Given the description of an element on the screen output the (x, y) to click on. 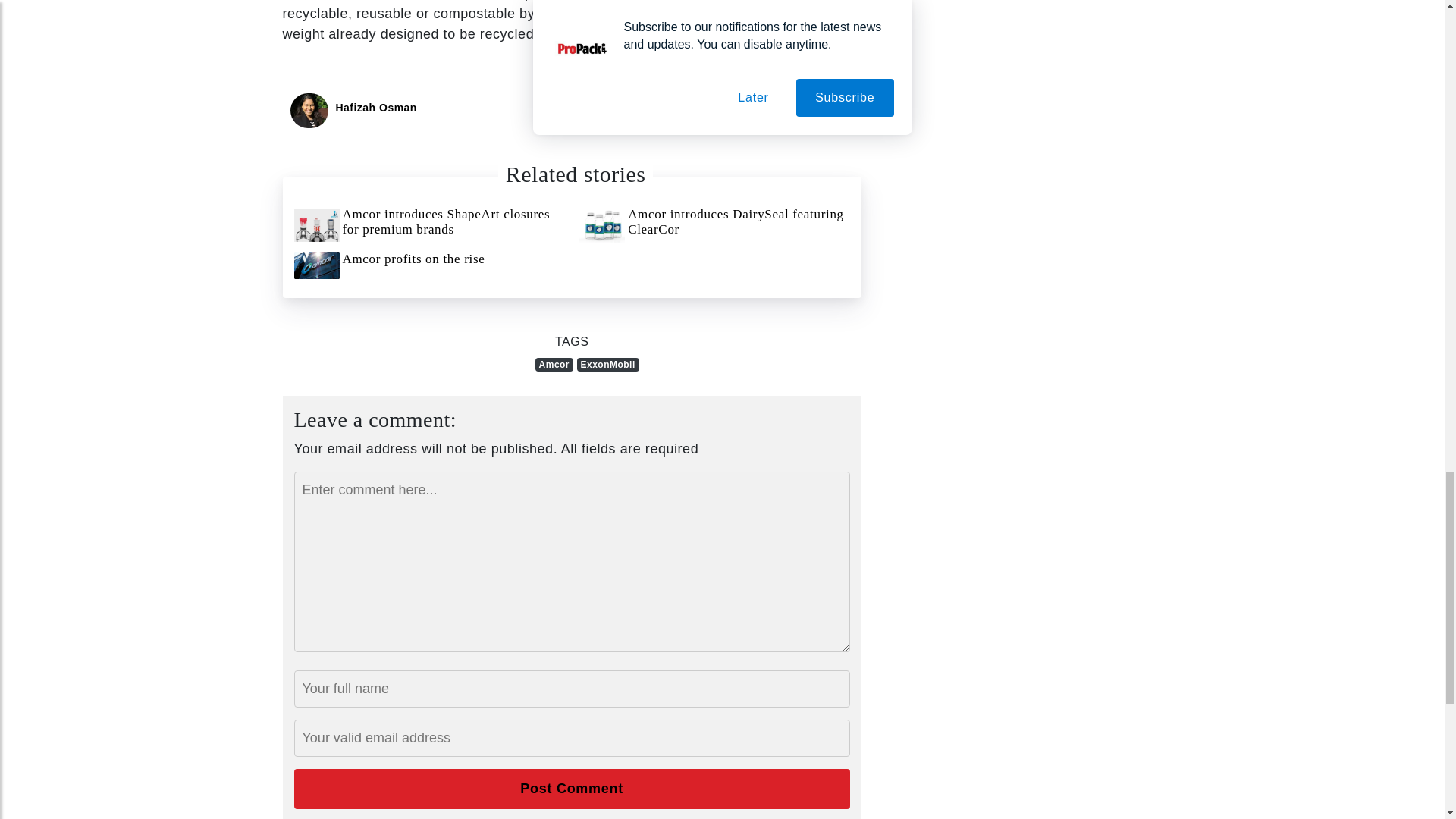
ExxonMobil (607, 364)
Hafizah Osman (375, 107)
Post Comment (572, 789)
Amcor profits on the rise (429, 265)
Amcor (554, 364)
Post Comment (572, 789)
Amcor introduces ShapeArt closures for premium brands (429, 225)
Amcor introduces DairySeal featuring ClearCor (714, 225)
